Given the description of an element on the screen output the (x, y) to click on. 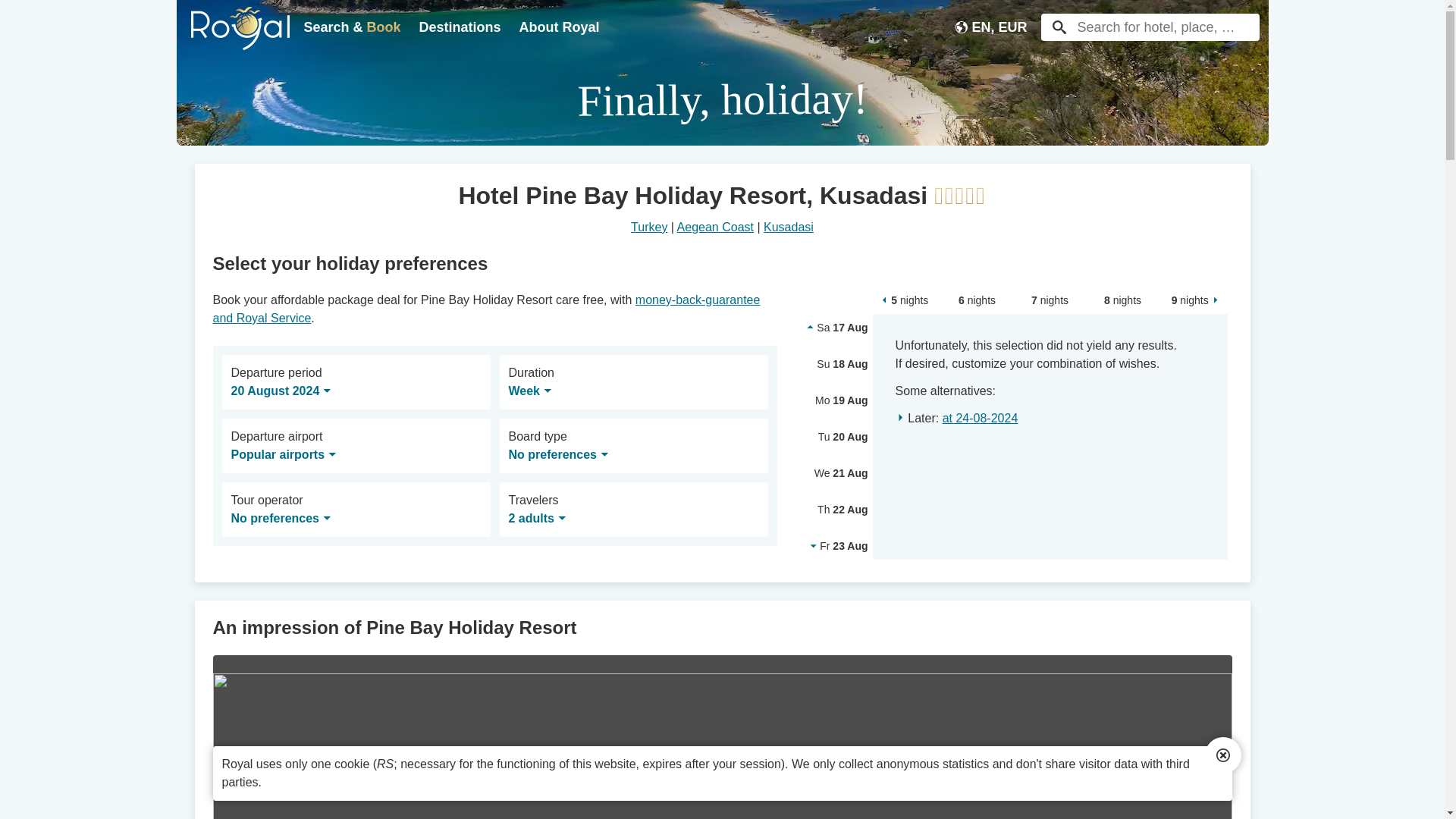
Kusadasi (787, 226)
Turkey (648, 226)
Sa 17 Aug (830, 327)
No preferences (558, 454)
Week (529, 391)
1 (522, 573)
2 (575, 523)
Aegean Coast (715, 226)
About Royal (559, 27)
Destinations (460, 27)
